Given the description of an element on the screen output the (x, y) to click on. 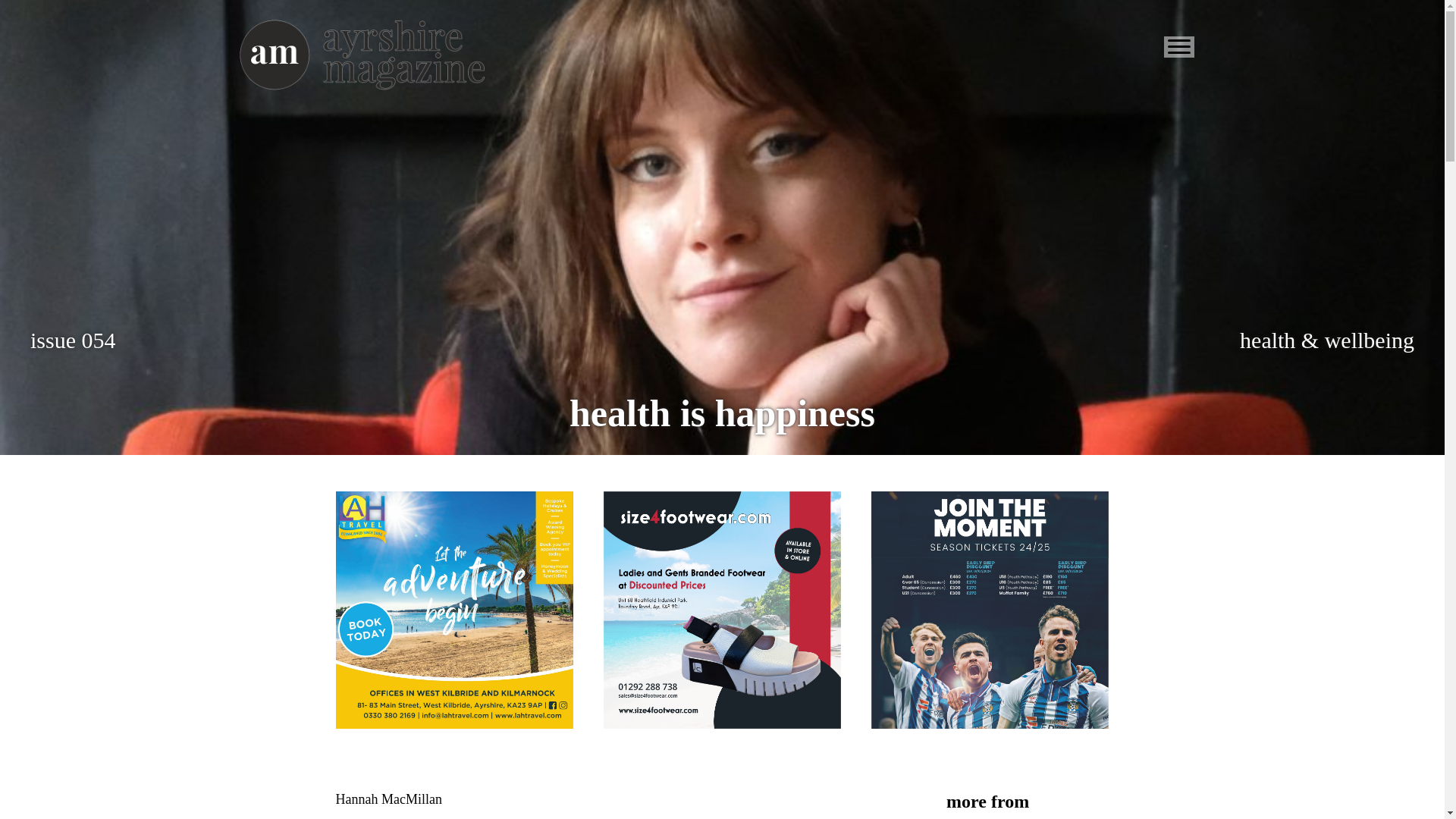
Ayrshire magazine logo (361, 55)
issue 054 (73, 339)
